Given the description of an element on the screen output the (x, y) to click on. 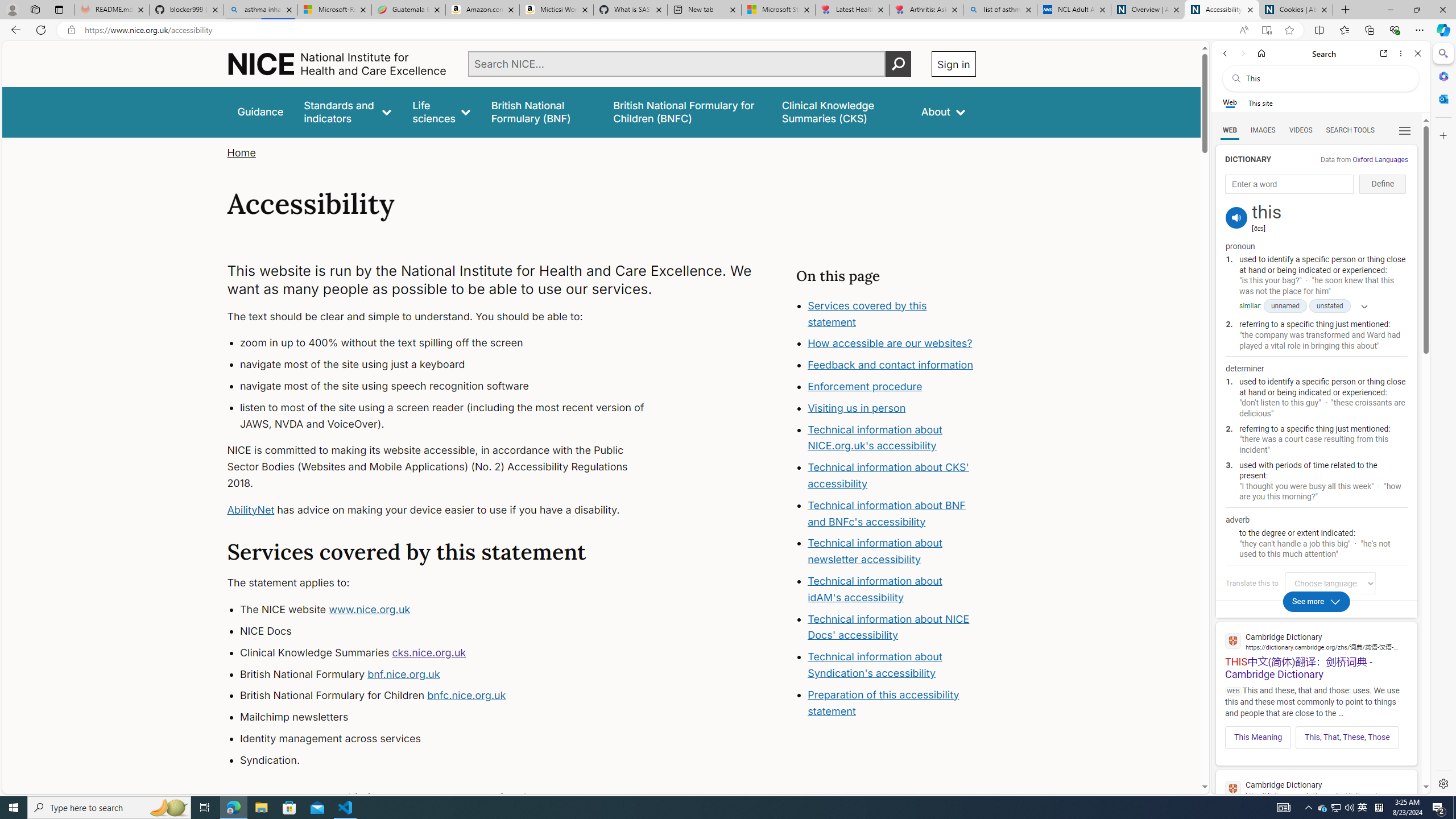
Visiting us in person (856, 407)
Feedback and contact information (891, 364)
Translate this to Choose language (1329, 582)
Preparation of this accessibility statement (891, 702)
Show more (1360, 305)
British National Formulary bnf.nice.org.uk (452, 674)
Identity management across services (452, 738)
Technical information about BNF and BNFc's accessibility (886, 512)
Technical information about Syndication's accessibility (875, 664)
